Given the description of an element on the screen output the (x, y) to click on. 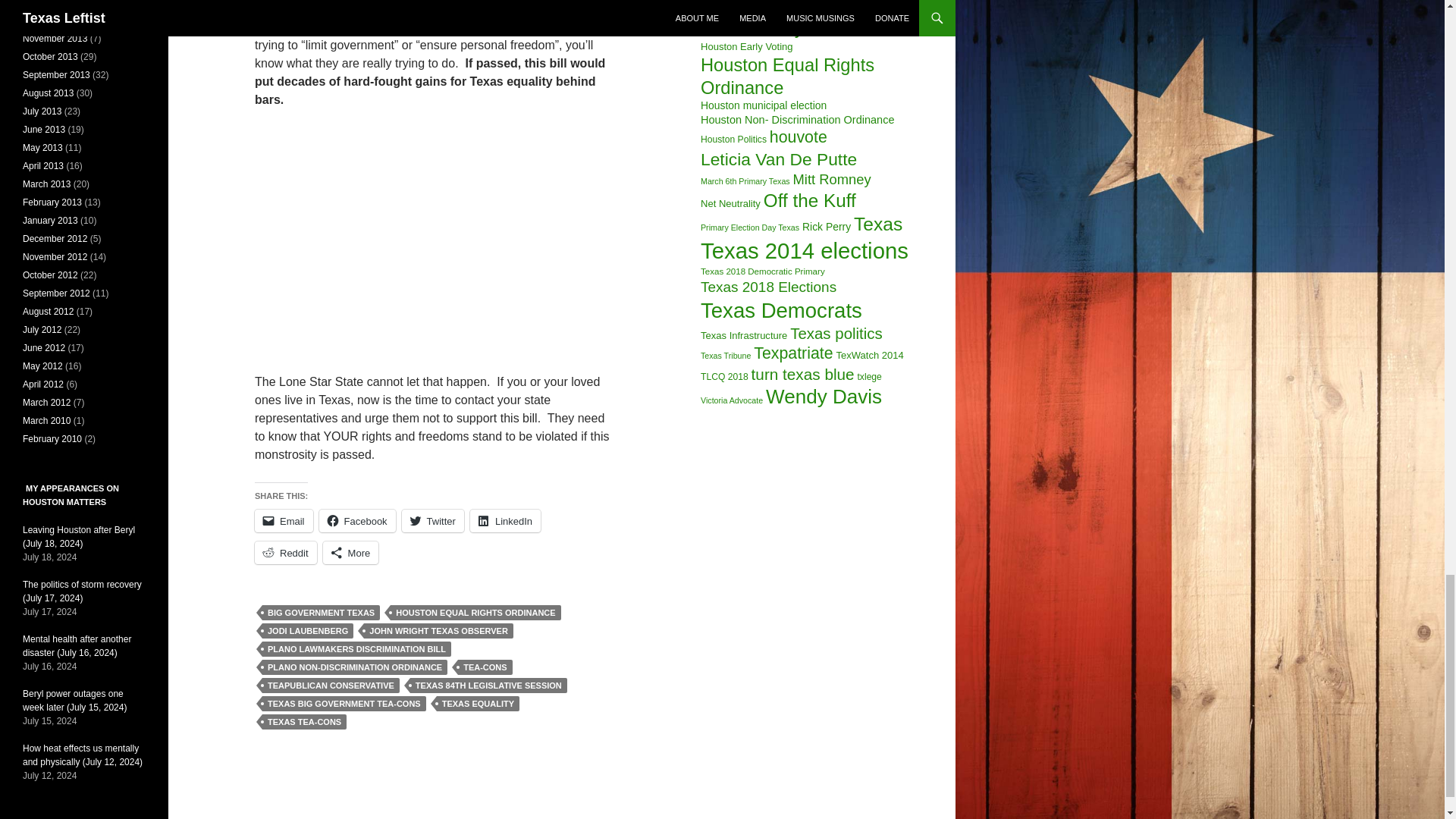
Click to share on LinkedIn (505, 520)
JOHN WRIGHT TEXAS OBSERVER (438, 630)
Email (283, 520)
Click to share on Twitter (432, 520)
Reddit (285, 552)
Facebook (357, 520)
JODI LAUBENBERG (307, 630)
Click to share on Facebook (357, 520)
HOUSTON EQUAL RIGHTS ORDINANCE (475, 612)
PLANO NON-DISCRIMINATION ORDINANCE (354, 667)
Click to share on Reddit (285, 552)
BIG GOVERNMENT TEXAS (321, 612)
TEA-CONS (485, 667)
Click to email a link to a friend (283, 520)
PLANO LAWMAKERS DISCRIMINATION BILL (356, 648)
